Given the description of an element on the screen output the (x, y) to click on. 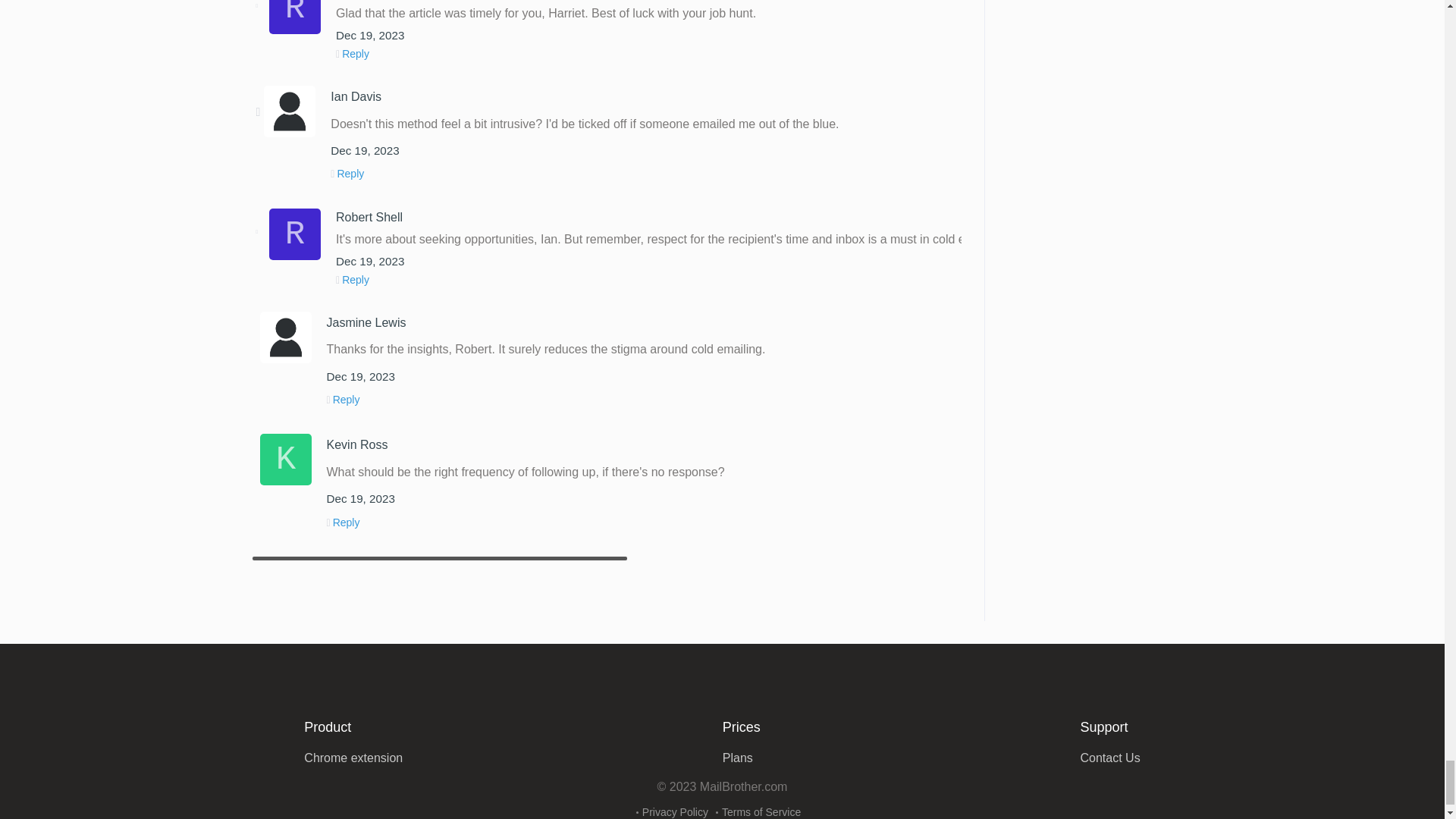
Plans (737, 757)
Chrome extension (353, 757)
Privacy Policy (674, 811)
Terms of Service (761, 811)
Contact Us (1110, 757)
